Given the description of an element on the screen output the (x, y) to click on. 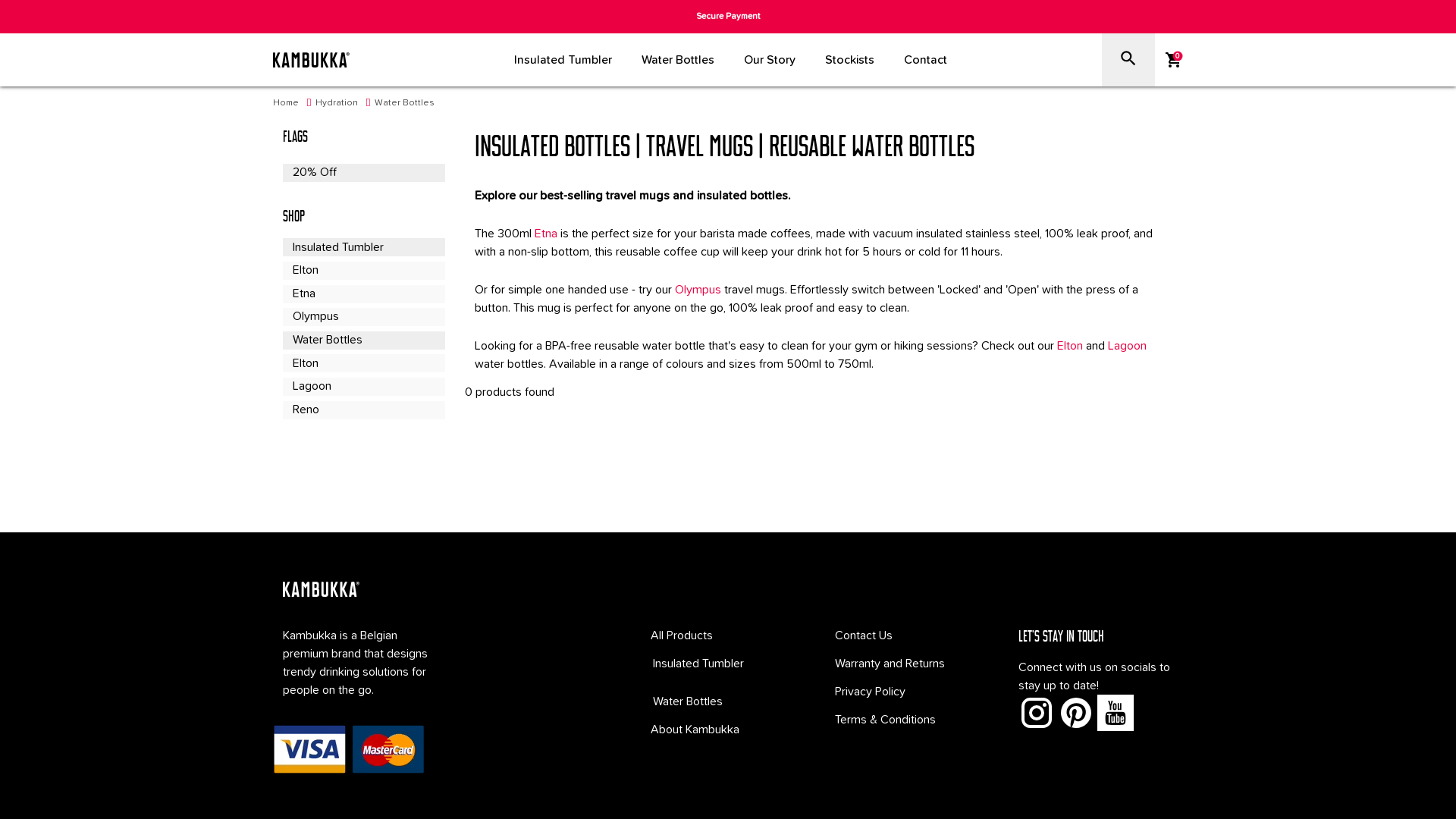
Our Story Element type: text (769, 59)
Elton Element type: text (363, 363)
Insulated Tumbler Element type: text (562, 59)
All Products Element type: text (681, 635)
Search Products Element type: text (1127, 59)
20% Off Element type: text (363, 172)
Contact Element type: text (925, 59)
Olympus Element type: text (363, 316)
Home Element type: text (285, 102)
Water Bottles Element type: text (727, 701)
Hydration Element type: text (336, 102)
Warranty and Returns Element type: text (889, 663)
Water Bottles Element type: text (677, 59)
Etna Element type: text (363, 294)
Water Bottles Element type: text (404, 102)
Instagram Element type: hover (1036, 712)
Lagoon Element type: text (363, 386)
Elton Element type: text (1069, 345)
Contact Us Element type: text (863, 635)
About Kambukka Element type: text (694, 729)
Stockists Element type: text (849, 59)
0 Element type: text (1173, 59)
Lagoon Element type: text (1126, 345)
Terms & Conditions Element type: text (884, 719)
Pintrest Element type: hover (1075, 712)
Water Bottles Element type: text (363, 340)
Etna Element type: text (545, 233)
Reno Element type: text (363, 410)
YouTube Element type: hover (1115, 712)
Olympus Element type: text (697, 289)
Insulated Tumbler Element type: text (727, 663)
Privacy Policy Element type: text (869, 691)
Insulated Tumbler Element type: text (363, 247)
Elton Element type: text (363, 270)
